Given the description of an element on the screen output the (x, y) to click on. 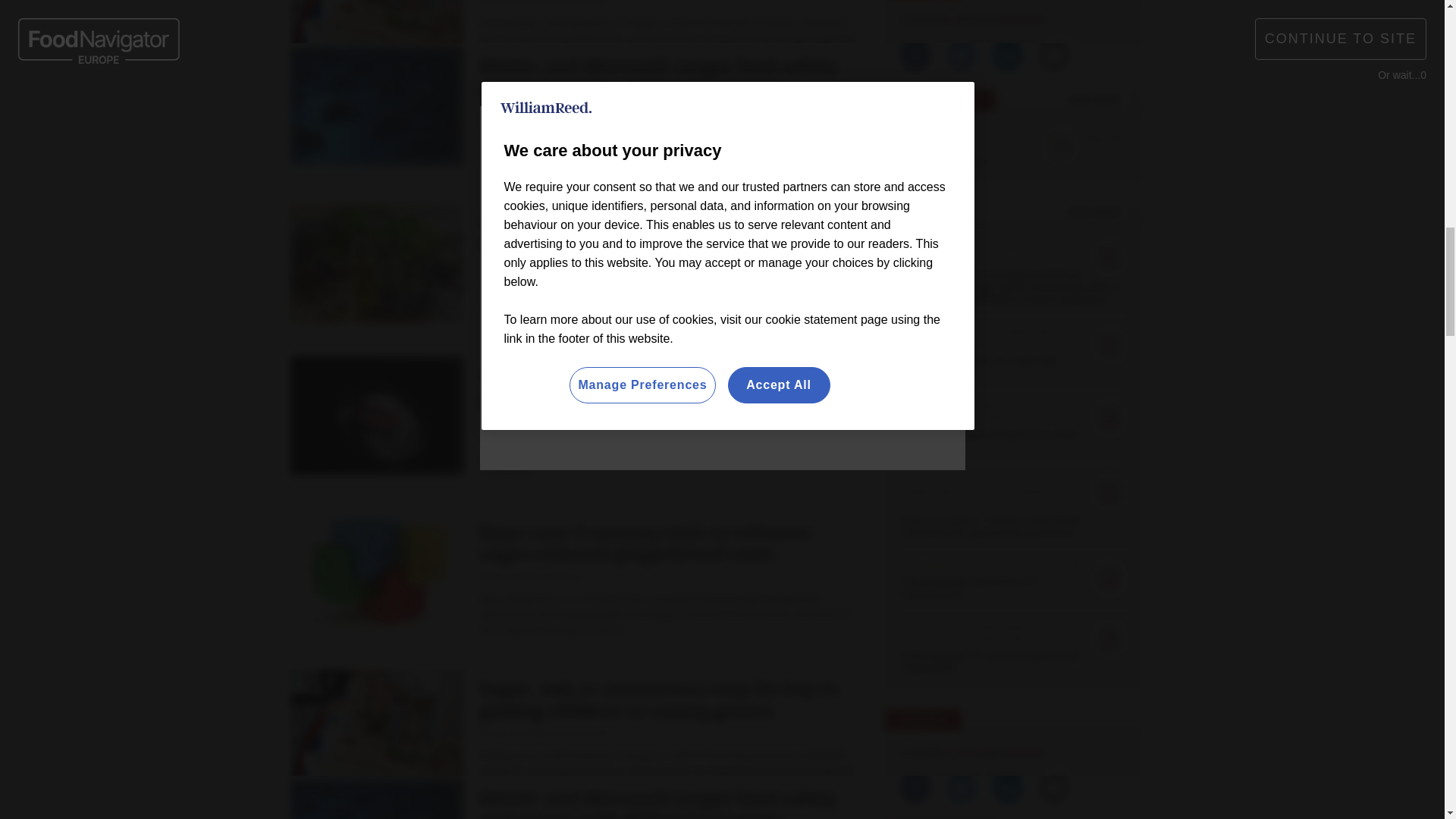
Weight-loss drugs beyond weight-loss: The potential of GLP-1 (402, 18)
